Given the description of an element on the screen output the (x, y) to click on. 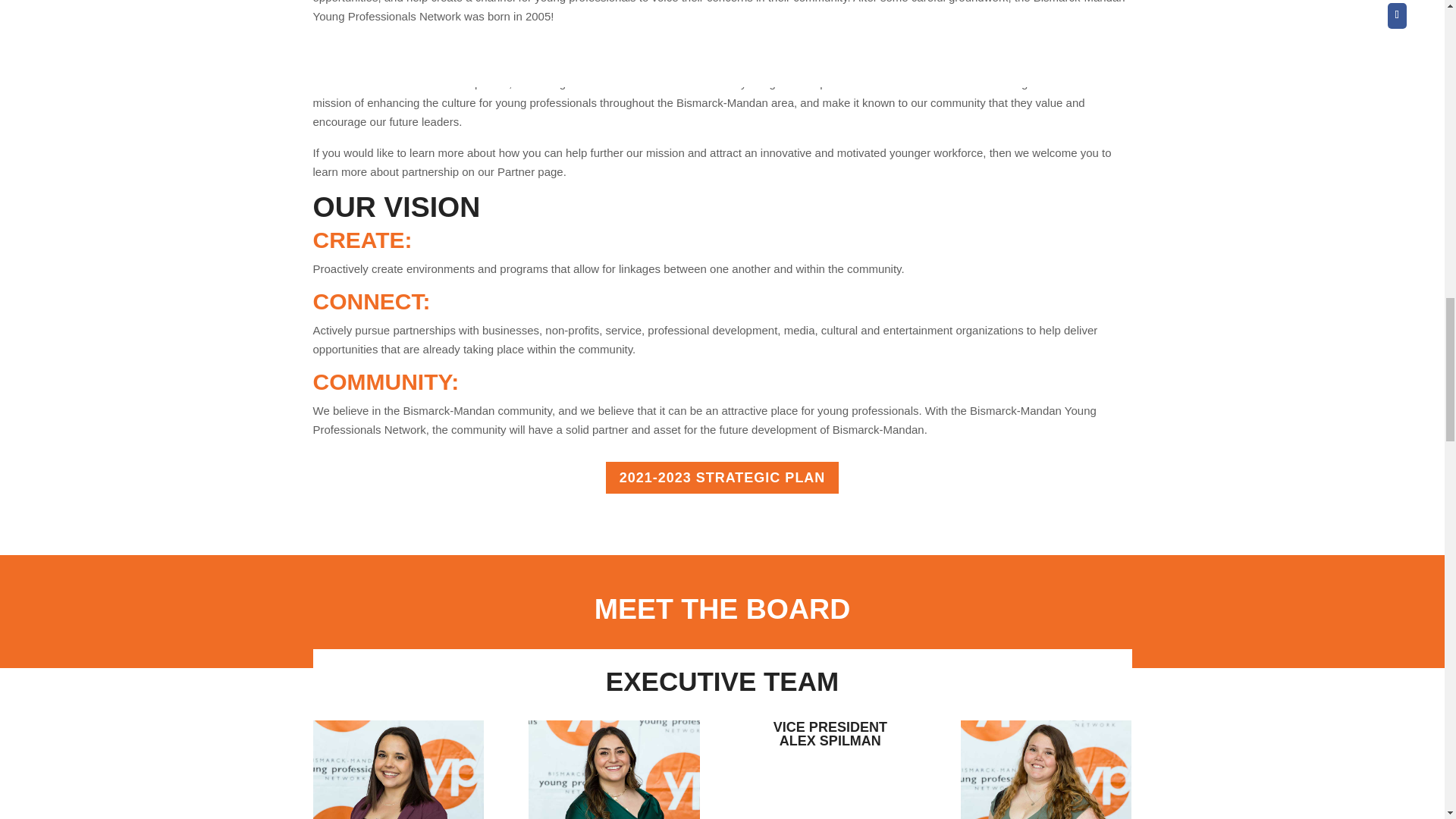
Stephanie-Hauge (1045, 769)
Gabby-A---Vice-President (613, 769)
2021-2023 STRATEGIC PLAN (722, 477)
Mallory-Green---President (398, 769)
